Given the description of an element on the screen output the (x, y) to click on. 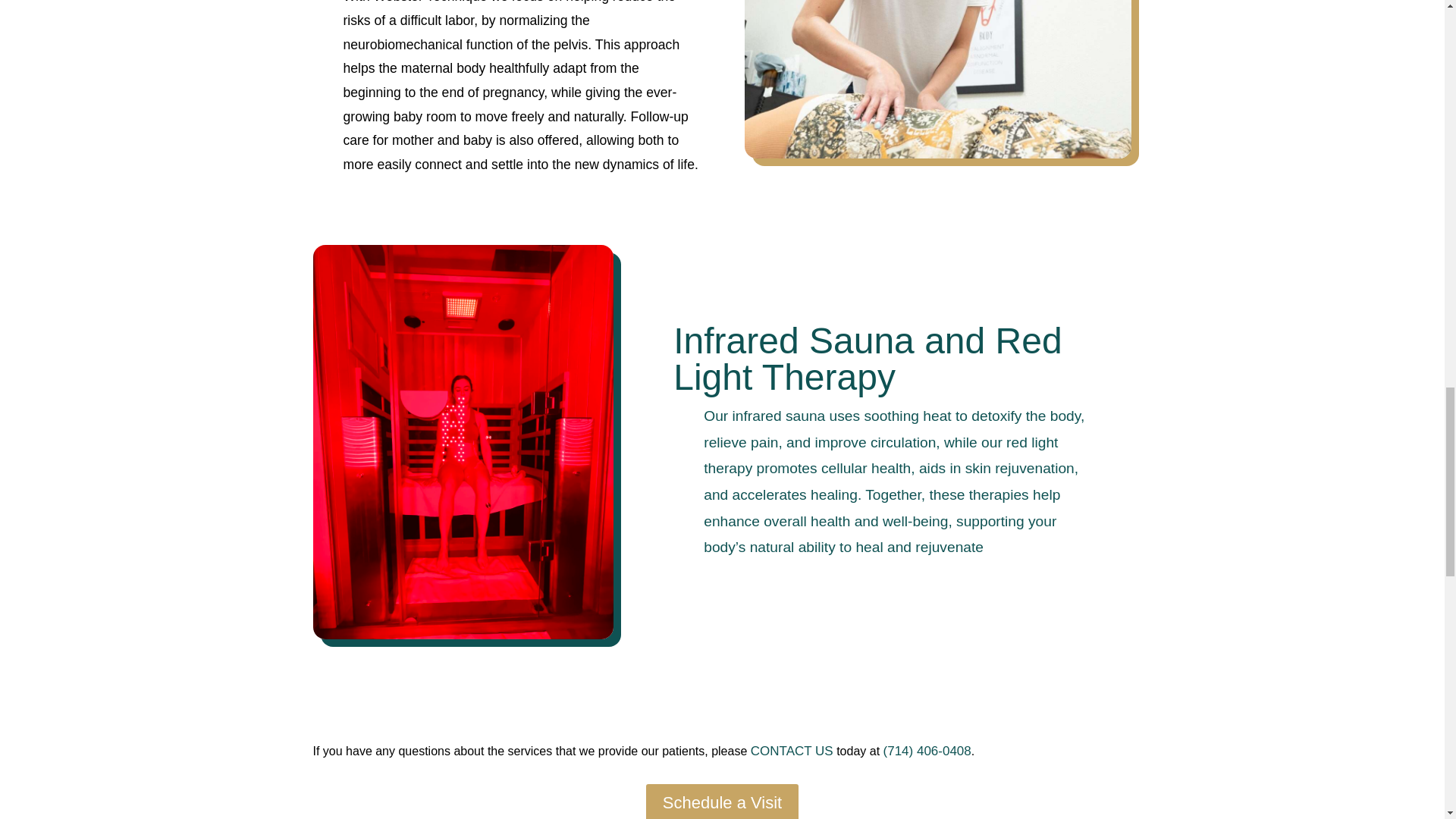
Sash pelvis check (937, 79)
Schedule a Visit (721, 801)
CONTACT US (791, 750)
